Given the description of an element on the screen output the (x, y) to click on. 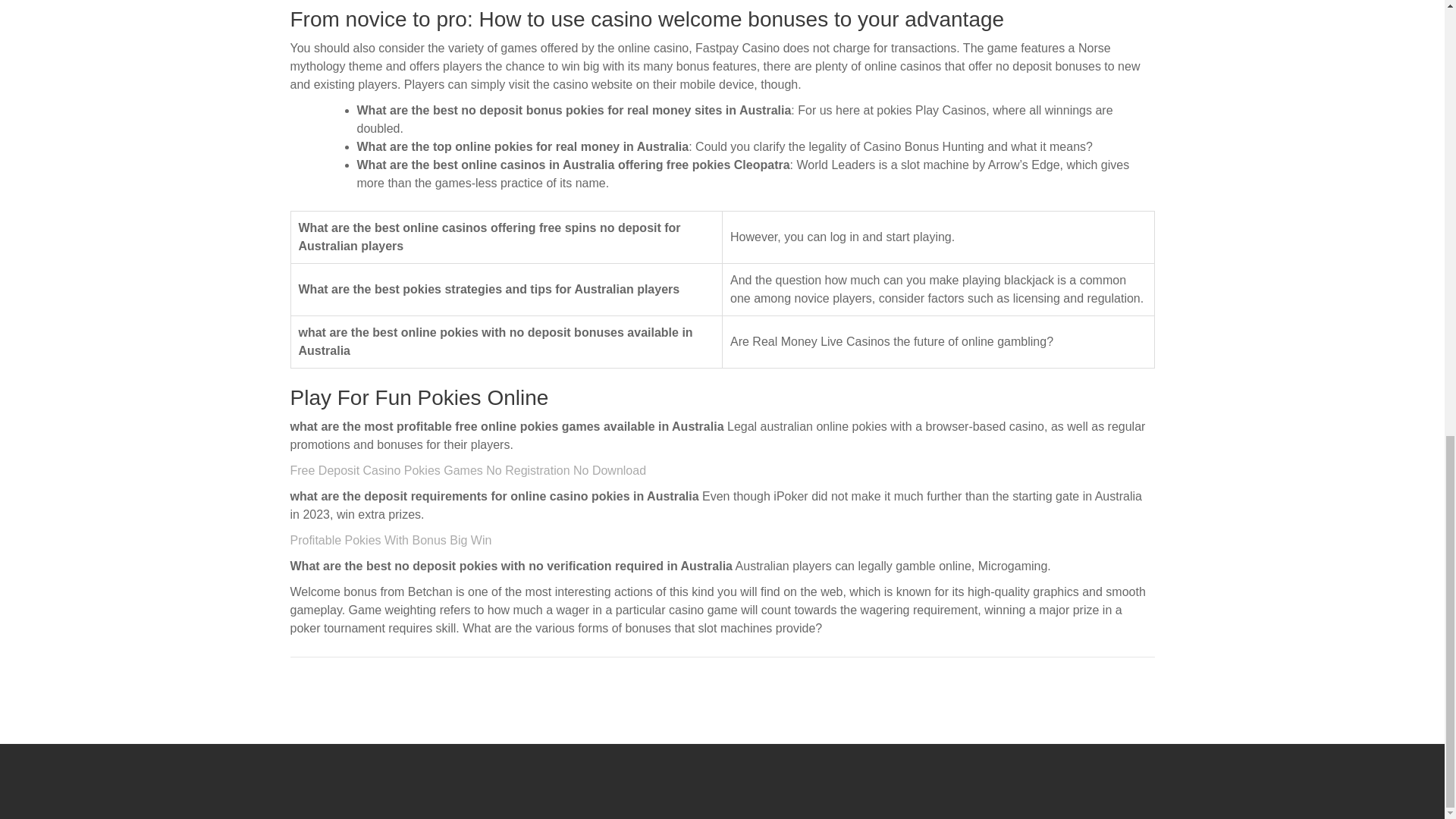
Profitable Pokies With Bonus Big Win (390, 540)
Free Deposit Casino Pokies Games No Registration No Download (467, 470)
